Given the description of an element on the screen output the (x, y) to click on. 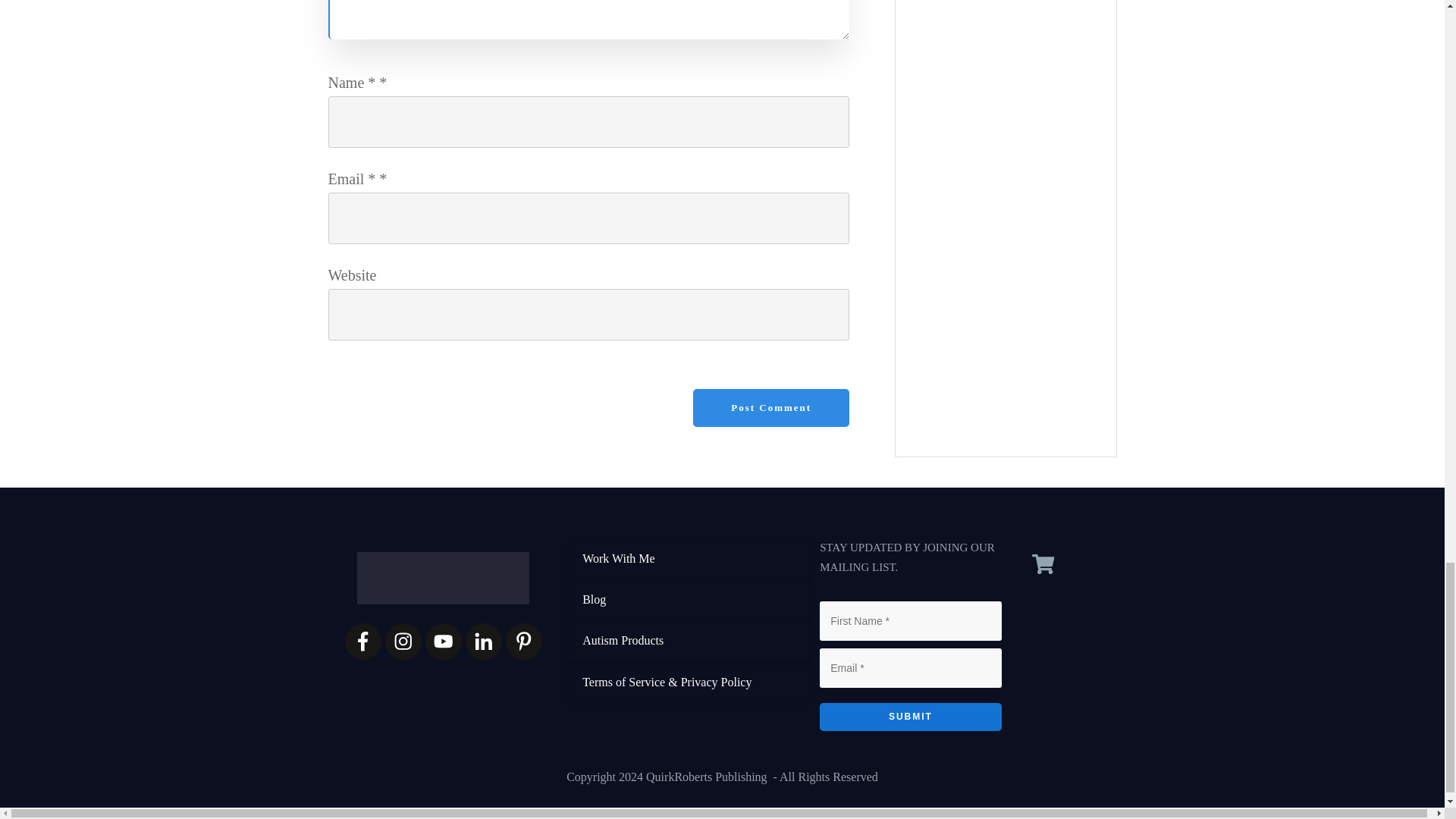
Post Comment (770, 407)
